Given the description of an element on the screen output the (x, y) to click on. 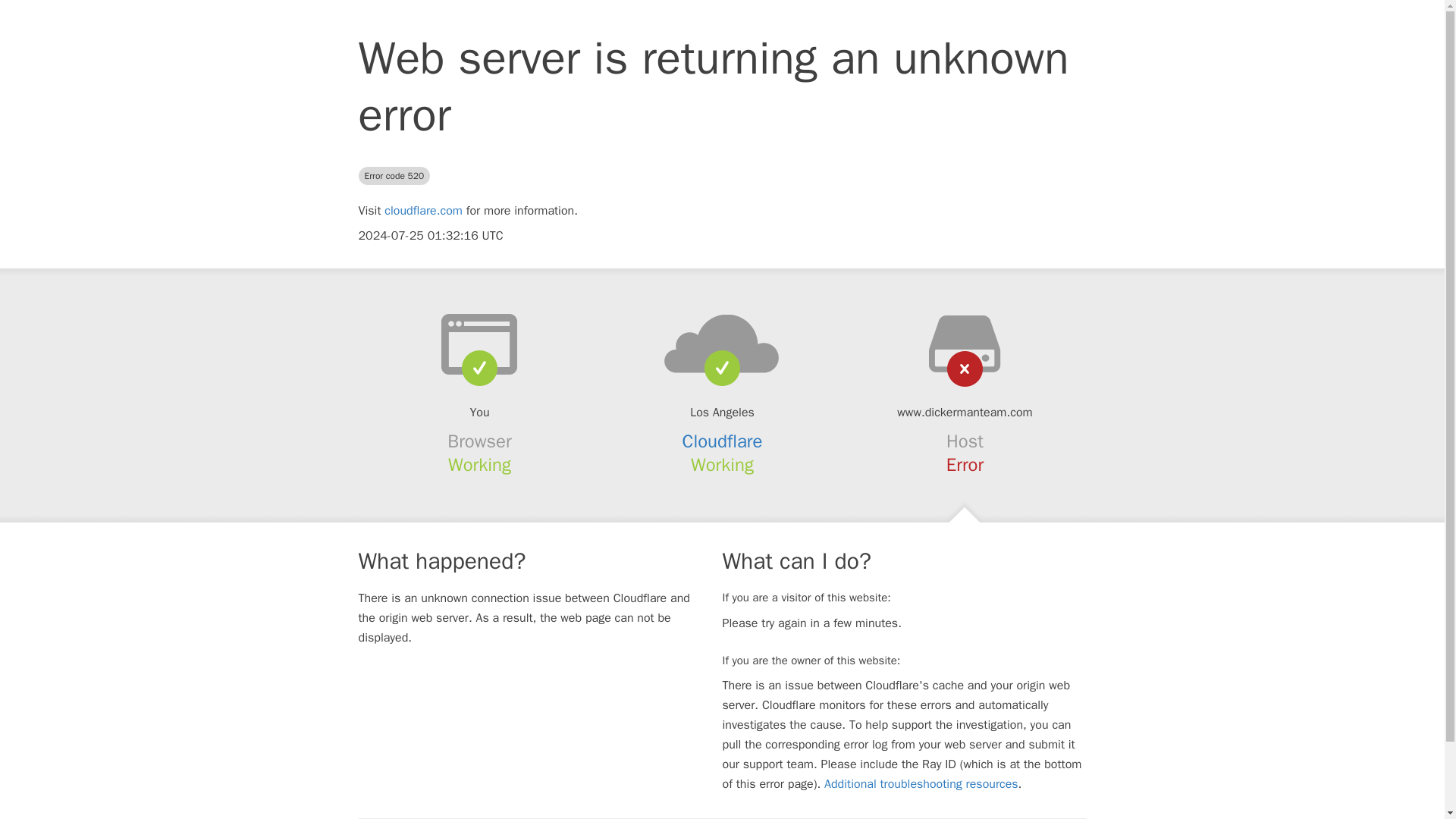
Cloudflare (722, 440)
Additional troubleshooting resources (920, 783)
cloudflare.com (423, 210)
